Given the description of an element on the screen output the (x, y) to click on. 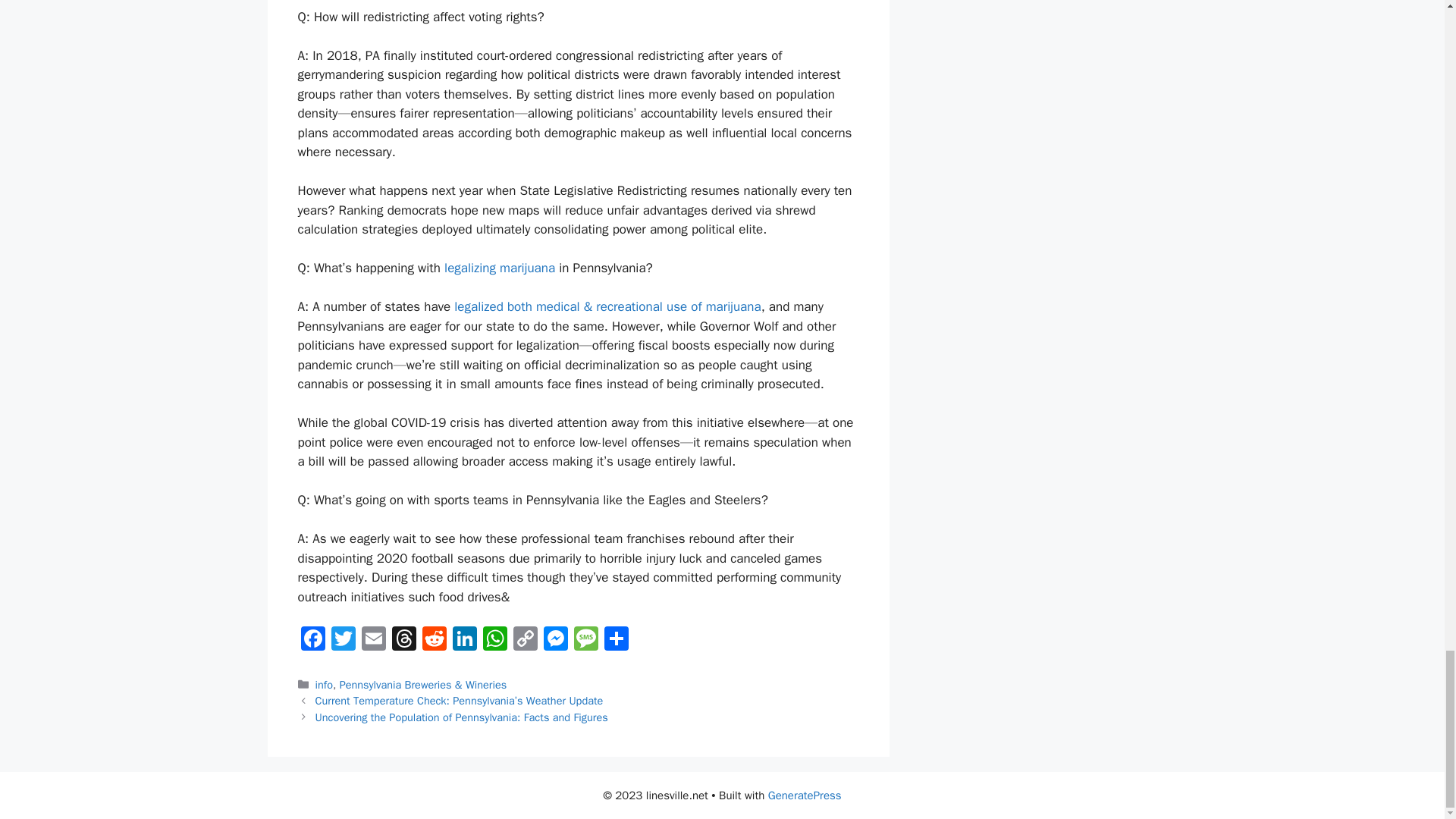
Twitter (342, 640)
Facebook (312, 640)
